Given the description of an element on the screen output the (x, y) to click on. 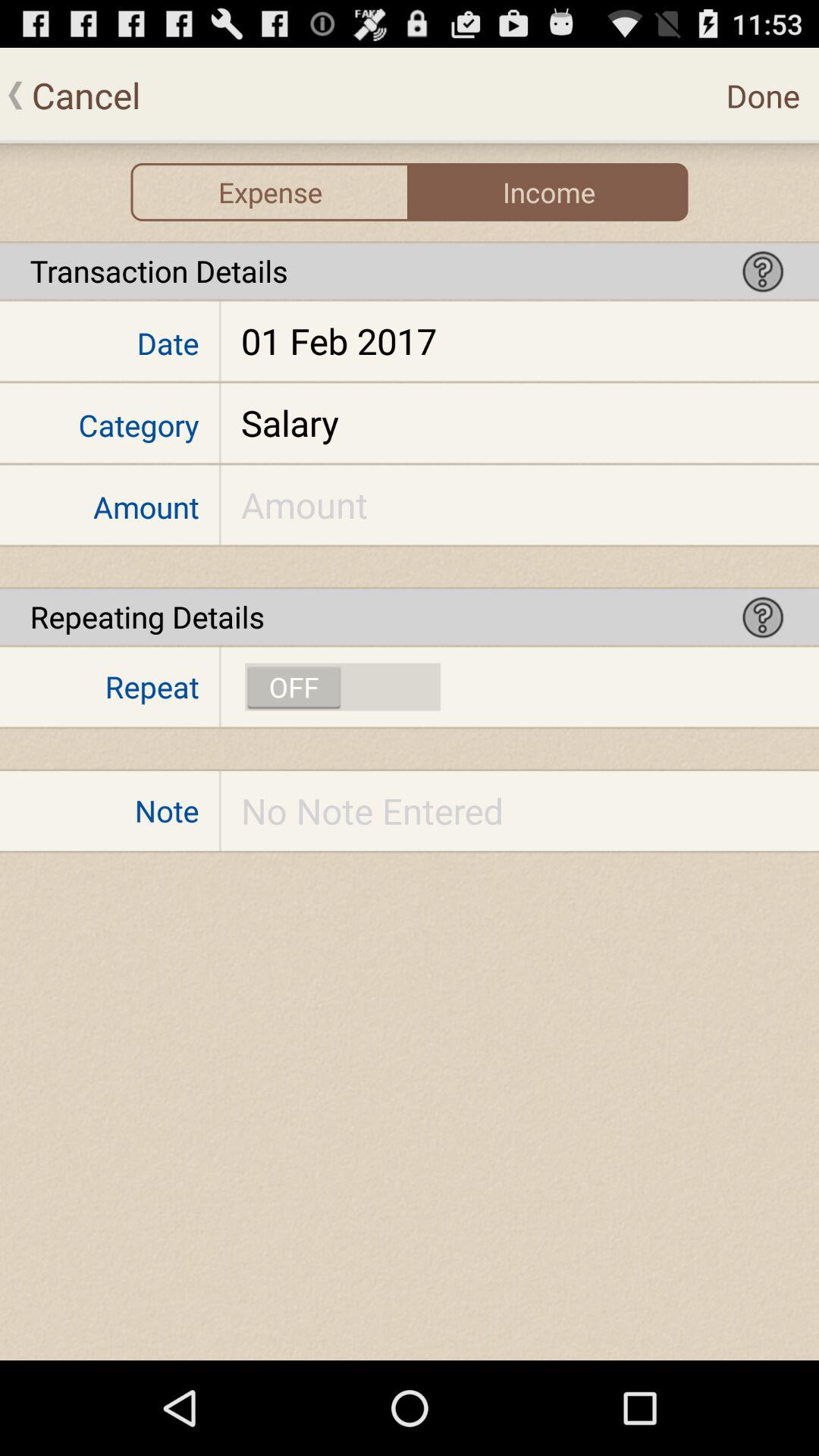
help (762, 271)
